Given the description of an element on the screen output the (x, y) to click on. 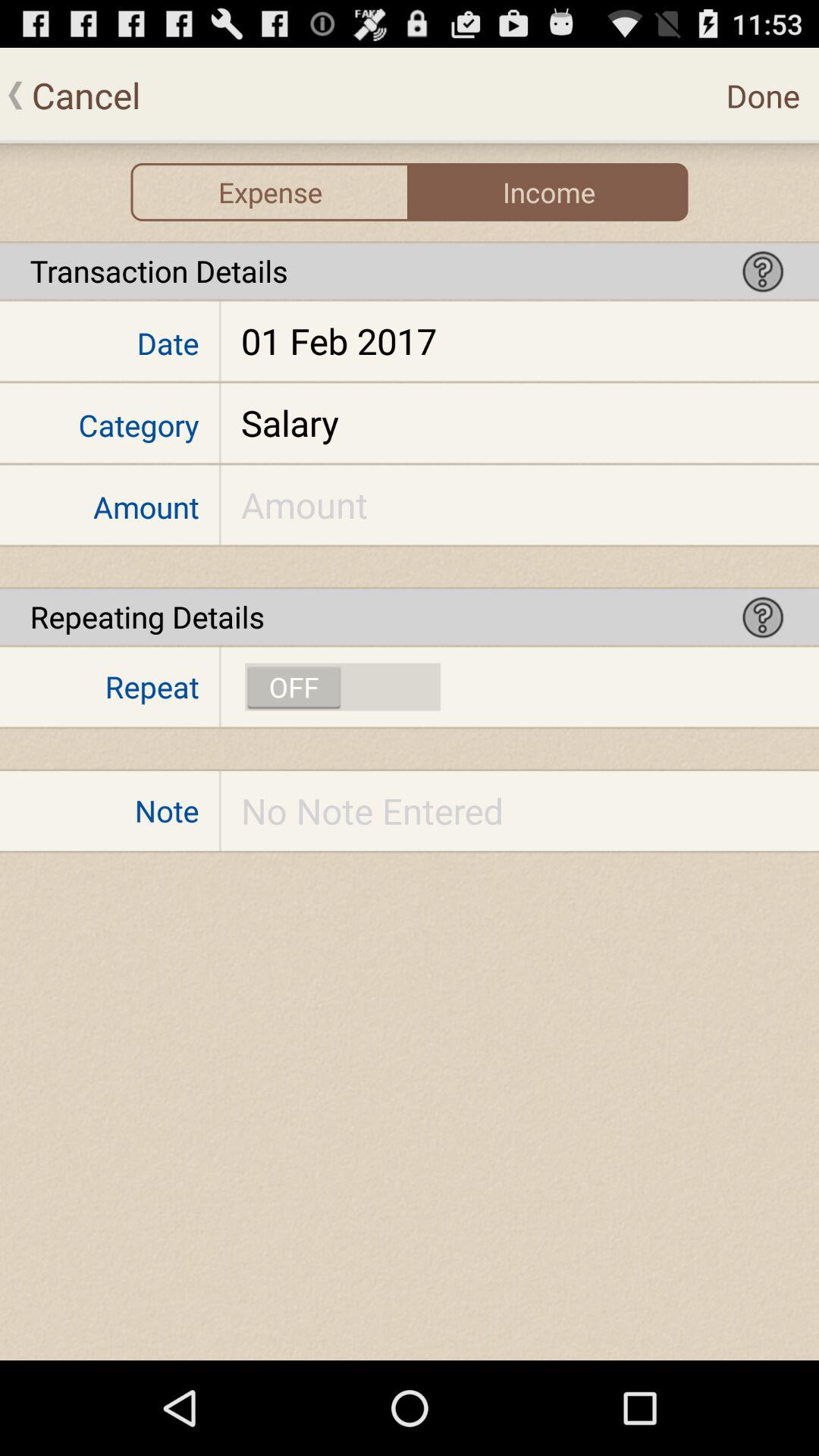
help (762, 271)
